Given the description of an element on the screen output the (x, y) to click on. 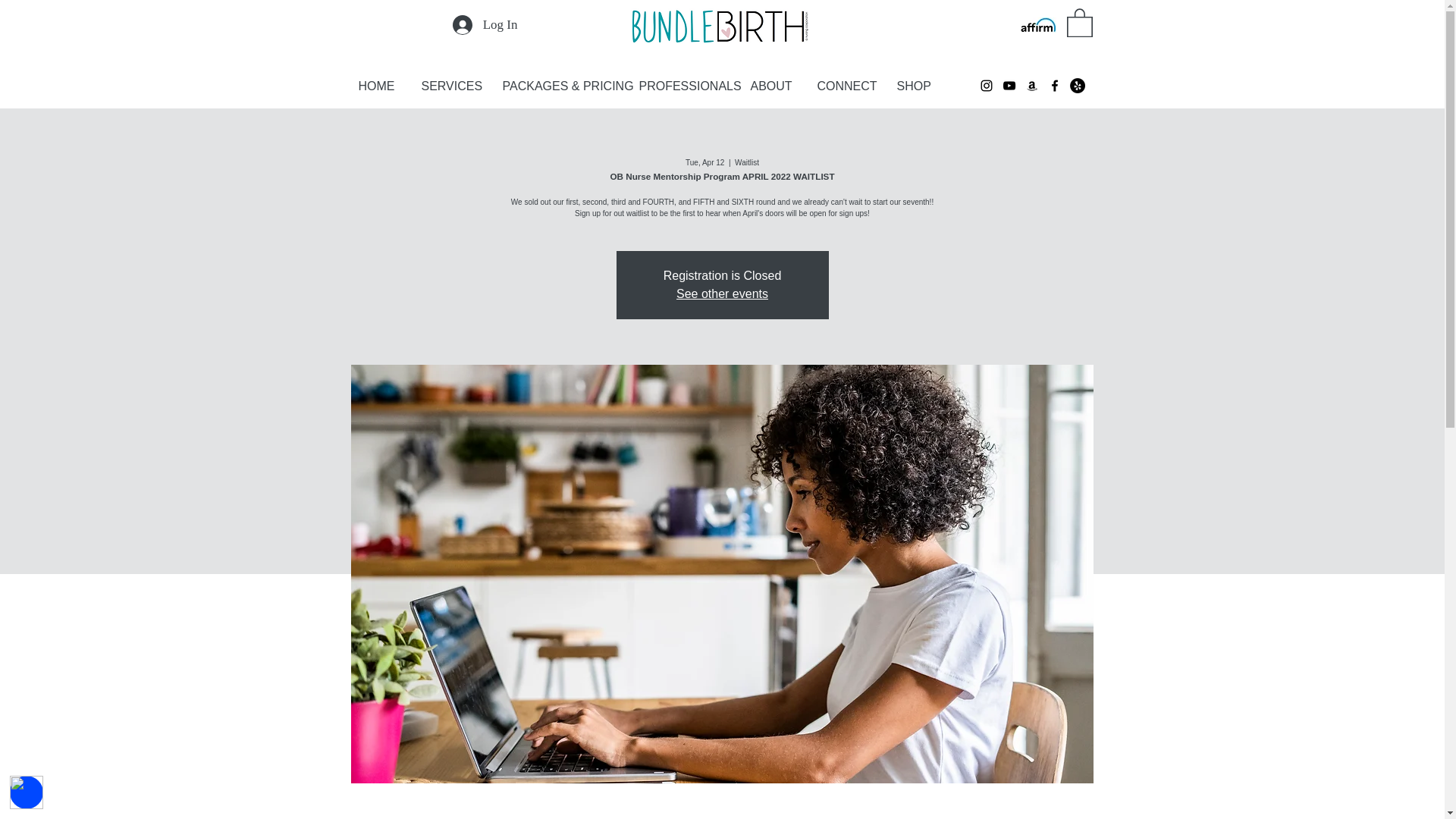
SHOP (918, 86)
SERVICES (454, 86)
Accessibility Menu (26, 792)
See other events (722, 293)
Log In (485, 24)
CONNECT (849, 86)
HOME (381, 86)
PROFESSIONALS (686, 86)
ABOUT (775, 86)
